Given the description of an element on the screen output the (x, y) to click on. 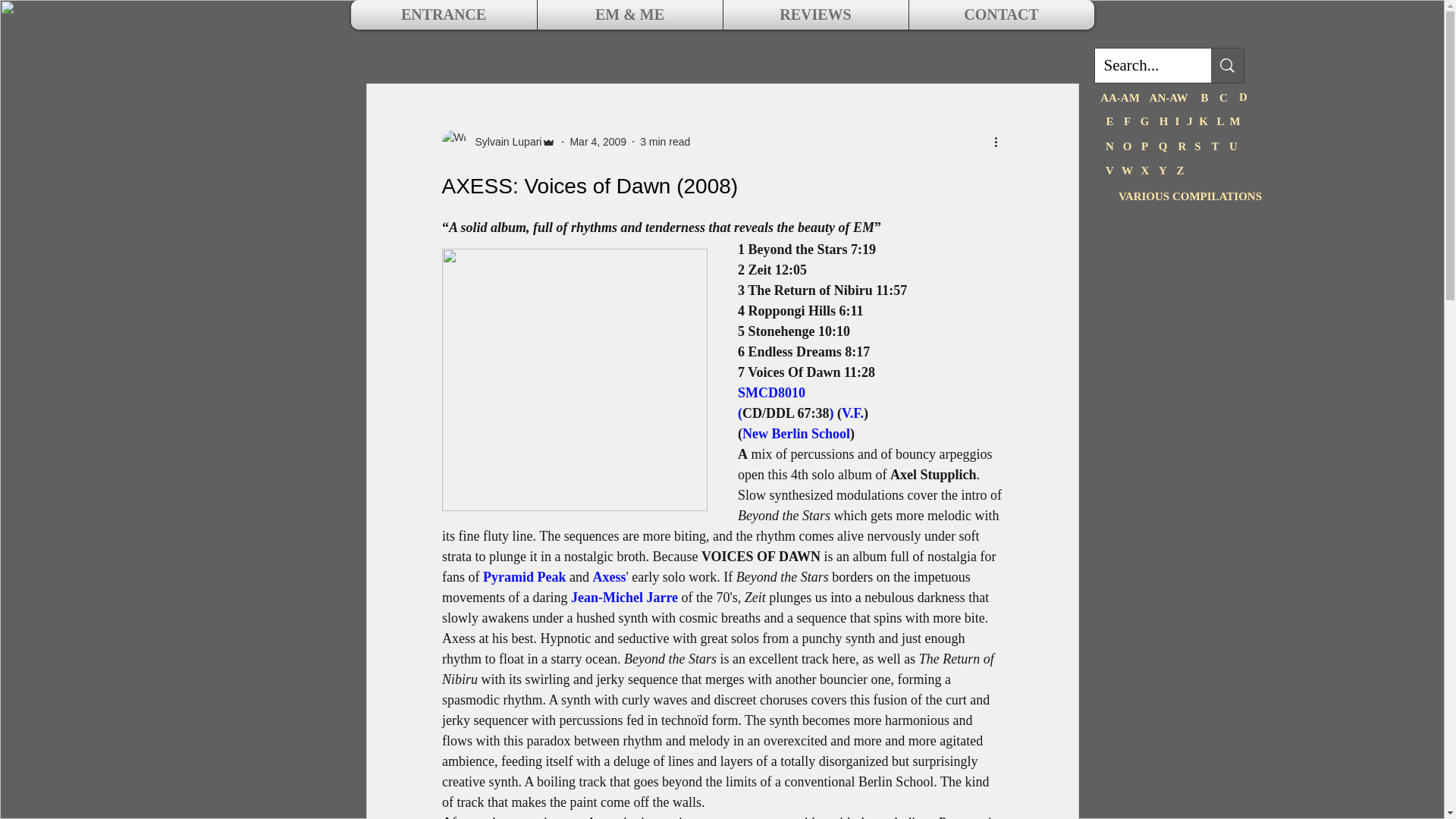
REVIEWS (815, 14)
Axess (609, 576)
ENTRANCE (443, 14)
Pyramid Peak (523, 576)
SMCD8010 (770, 392)
3 min read (665, 141)
CONTACT (1001, 14)
Mar 4, 2009 (597, 141)
Sylvain Lupari (503, 141)
Jean-Michel Jarre (623, 597)
V.F. (852, 412)
